Given the description of an element on the screen output the (x, y) to click on. 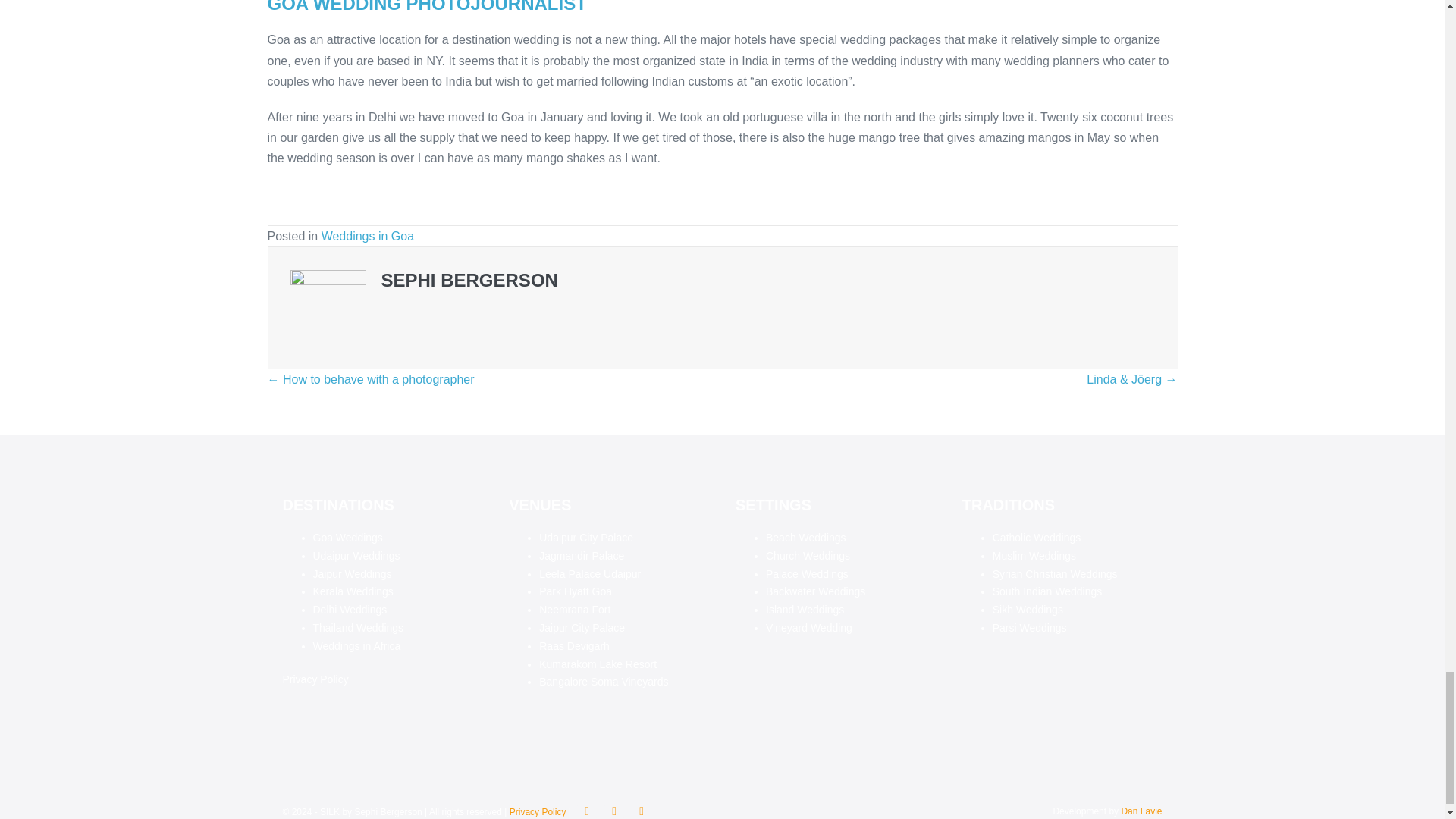
Goa Weddings (347, 537)
Weddings in Goa (367, 236)
GOA WEDDING PHOTOJOURNALIST (426, 6)
